Given the description of an element on the screen output the (x, y) to click on. 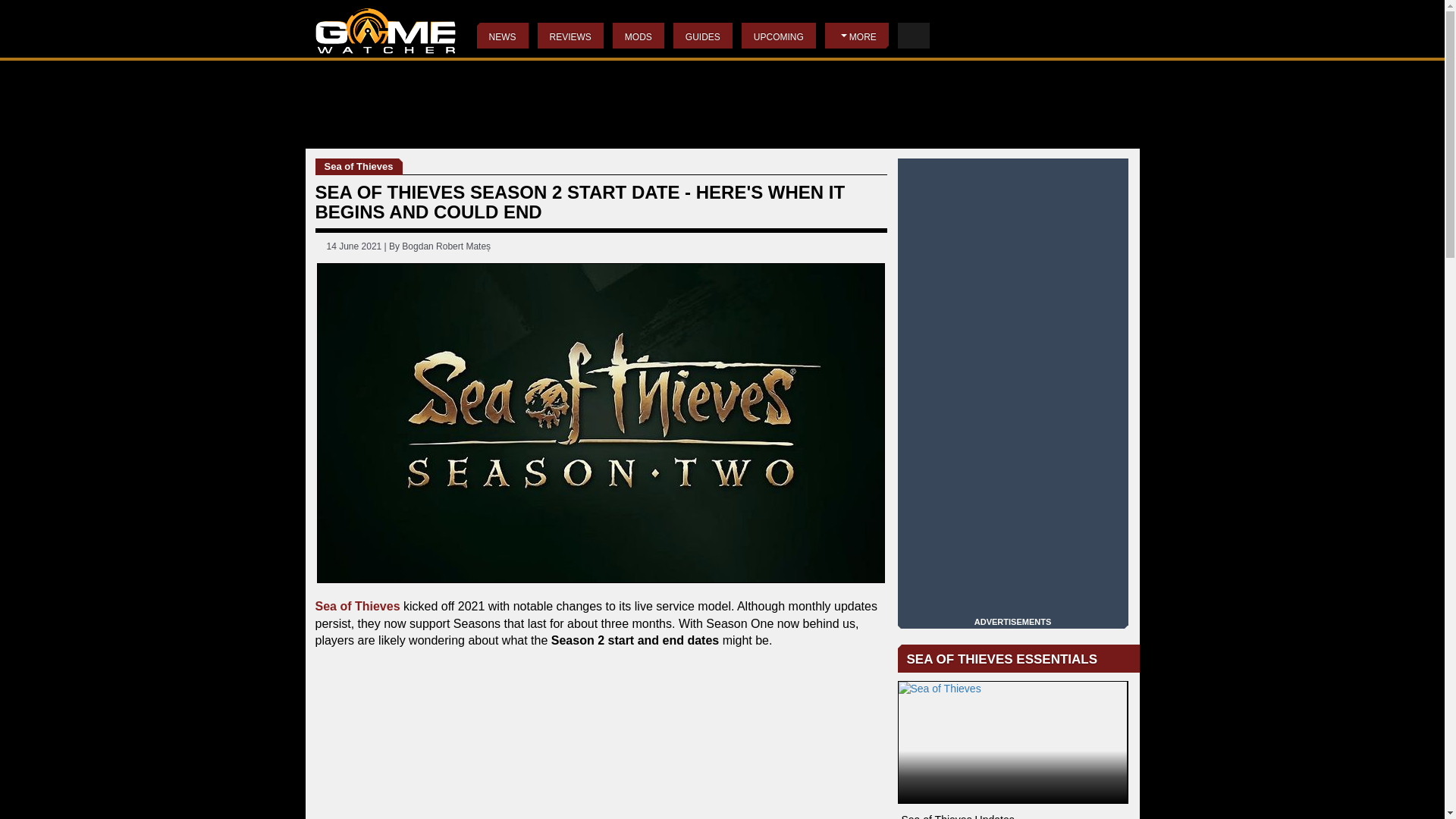
UPCOMING (778, 35)
Sea of Thieves (359, 166)
GUIDES (702, 35)
REVIEWS (569, 35)
MORE (856, 35)
Sea of Thieves (357, 605)
Sea of Thieves (1013, 741)
MODS (637, 35)
NEWS (501, 35)
